Given the description of an element on the screen output the (x, y) to click on. 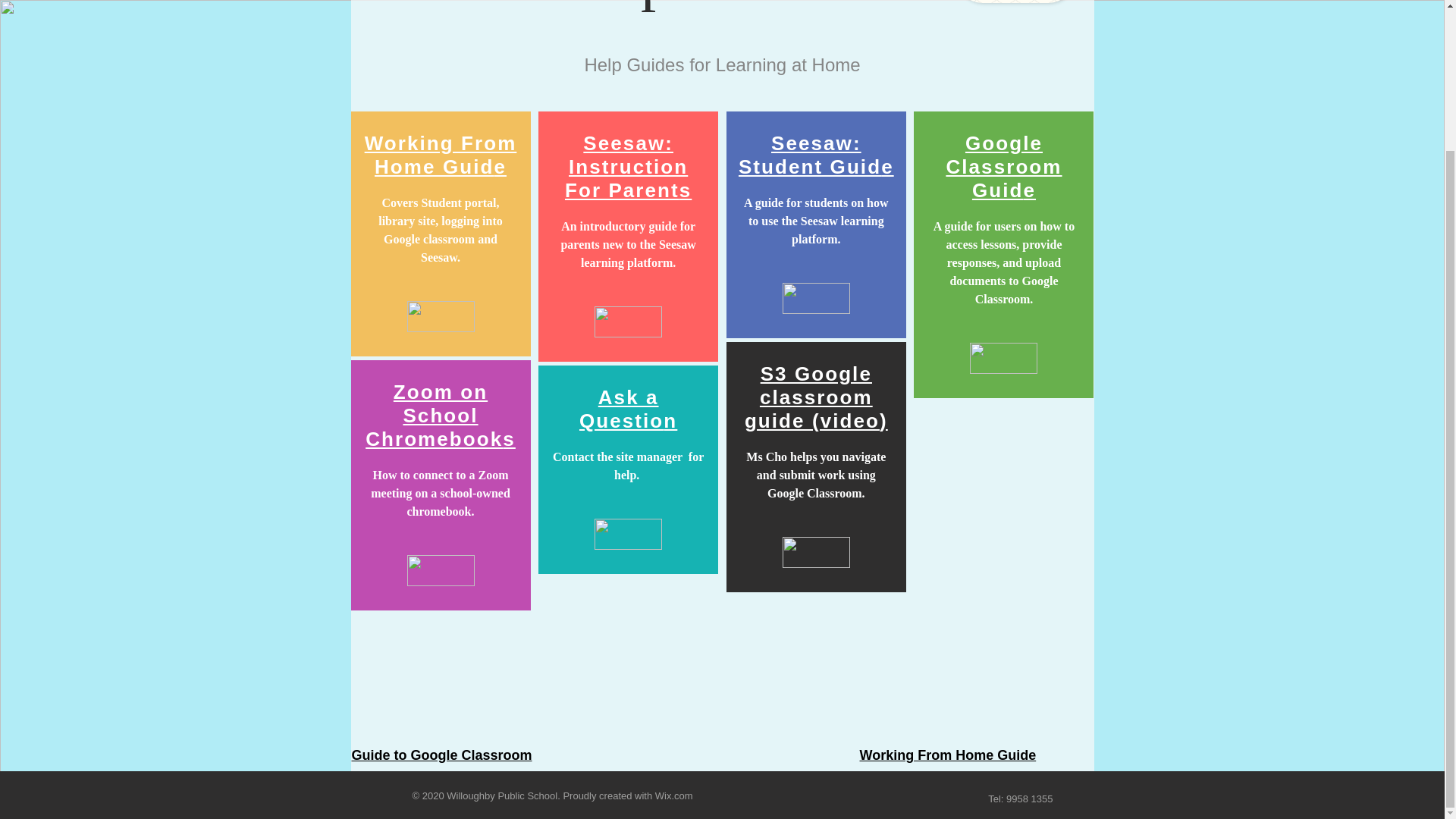
Seesaw: Student Guid (809, 154)
Working From Home Guid (440, 154)
Seesaw: Instruction For Parent (625, 166)
Zoom on School Chromebook (433, 415)
Ask a Questio (621, 408)
CONTACT US (1013, 1)
